Given the description of an element on the screen output the (x, y) to click on. 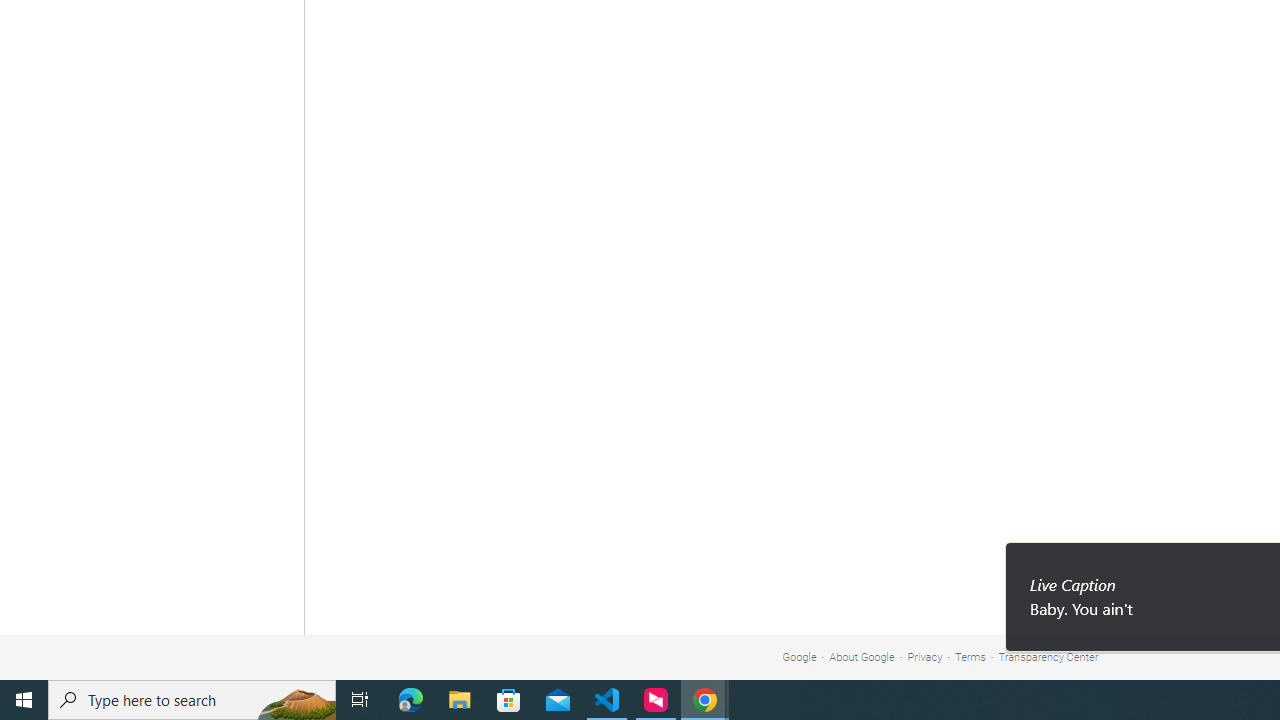
About Google (861, 656)
Transparency Center (1048, 656)
